Given the description of an element on the screen output the (x, y) to click on. 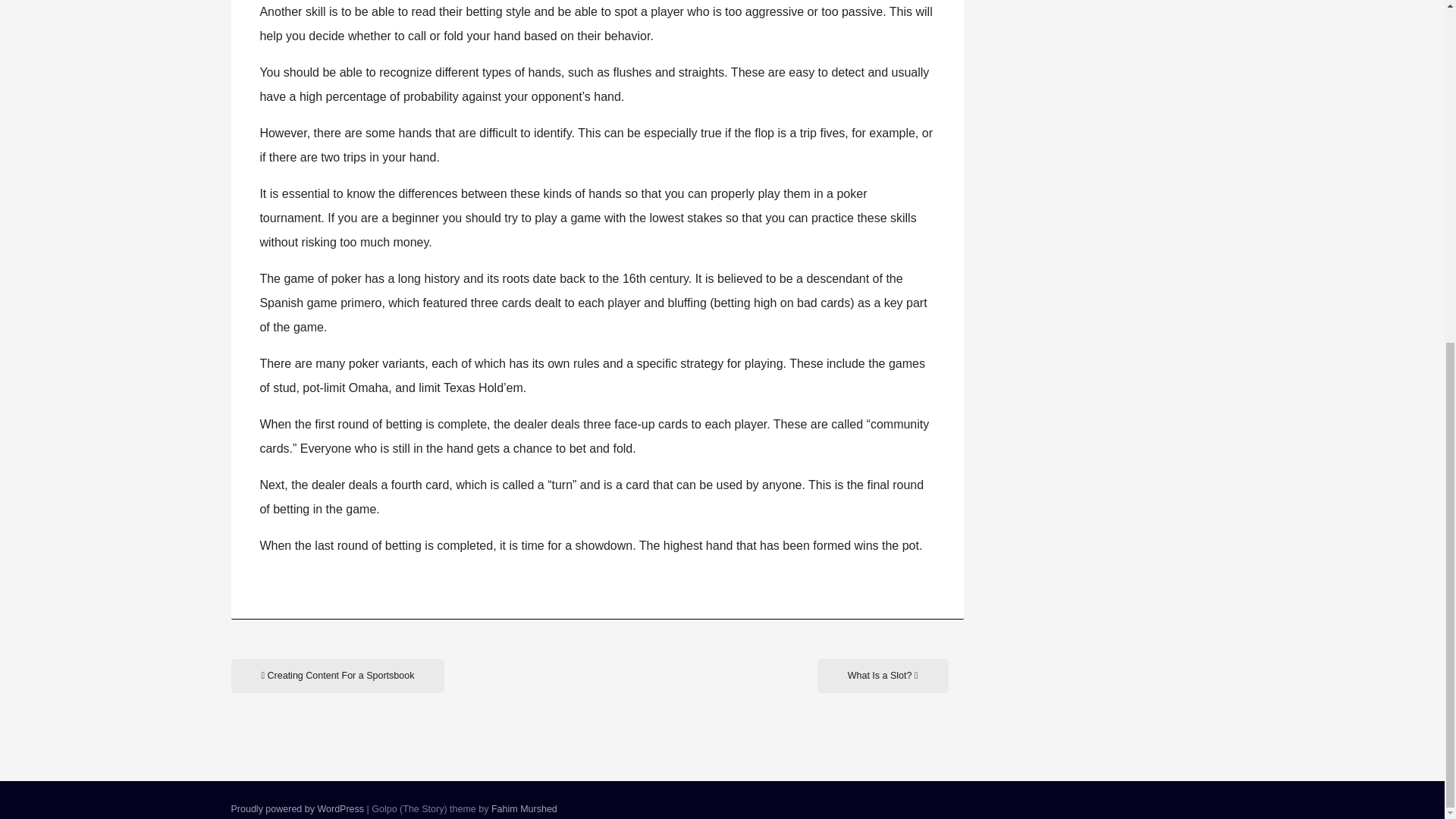
Proudly powered by WordPress (297, 808)
What Is a Slot? (882, 675)
Creating Content For a Sportsbook (337, 675)
Fahim Murshed (524, 808)
